Given the description of an element on the screen output the (x, y) to click on. 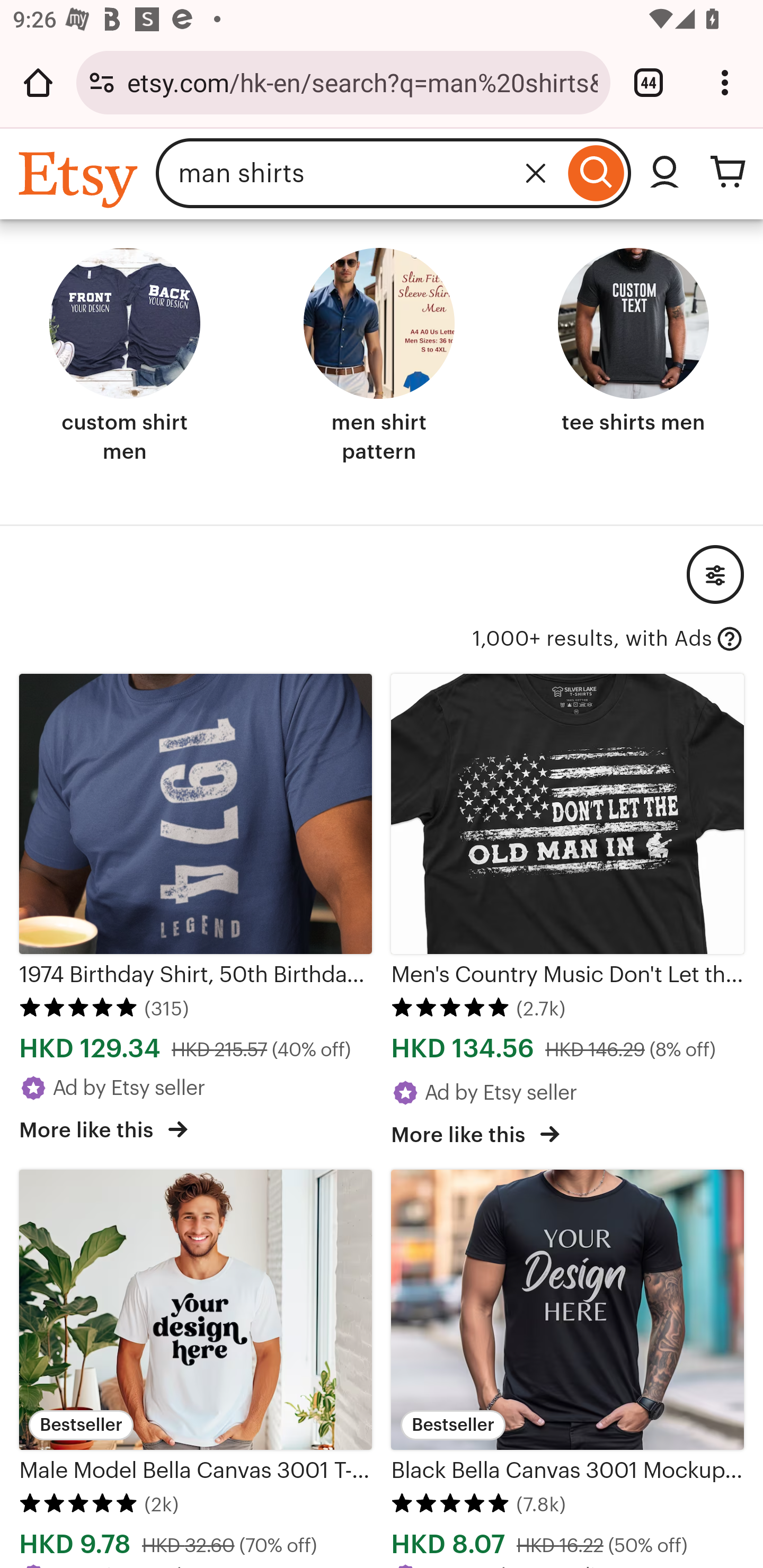
Open the home page (38, 82)
Connection is secure (101, 82)
Switch or close tabs (648, 82)
Customize and control Google Chrome (724, 82)
man shirts (357, 172)
Search (595, 172)
Cart (727, 172)
Sign in (664, 172)
Clear search (535, 173)
Etsy (80, 178)
custom shirt men (124, 357)
men shirt pattern (378, 357)
tee shirts men (633, 343)
Filters (714, 574)
Learn more (729, 637)
More like this  (103, 1128)
More like this  (474, 1132)
